Given the description of an element on the screen output the (x, y) to click on. 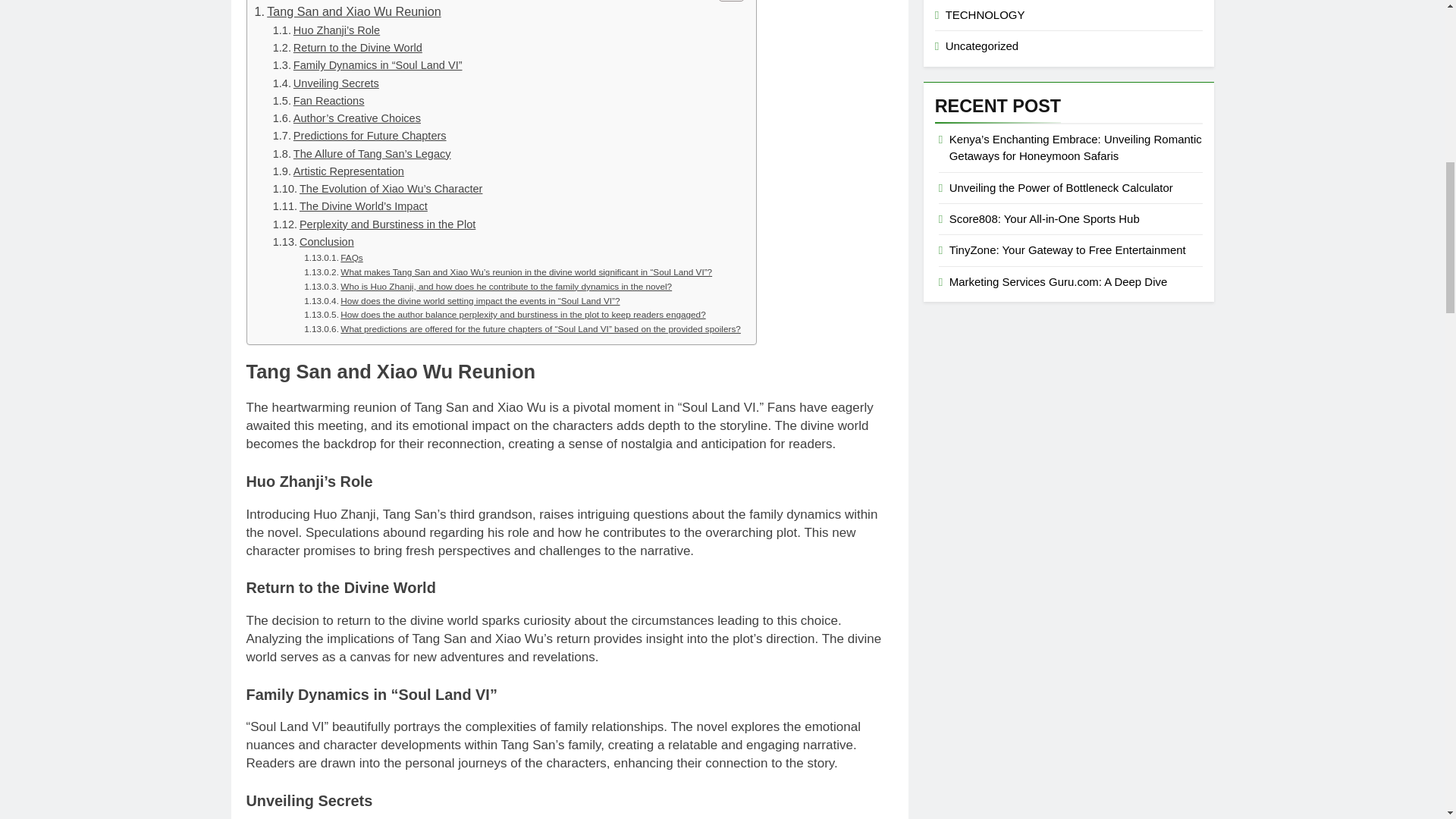
Return to the Divine World (347, 47)
Tang San and Xiao Wu Reunion (347, 12)
Predictions for Future Chapters (359, 135)
Artistic Representation (338, 171)
Perplexity and Burstiness in the Plot (374, 224)
Fan Reactions (319, 100)
Predictions for Future Chapters (359, 135)
Unveiling Secrets (325, 83)
Tang San and Xiao Wu Reunion (347, 12)
Unveiling Secrets (325, 83)
Fan Reactions (319, 100)
Return to the Divine World (347, 47)
